Given the description of an element on the screen output the (x, y) to click on. 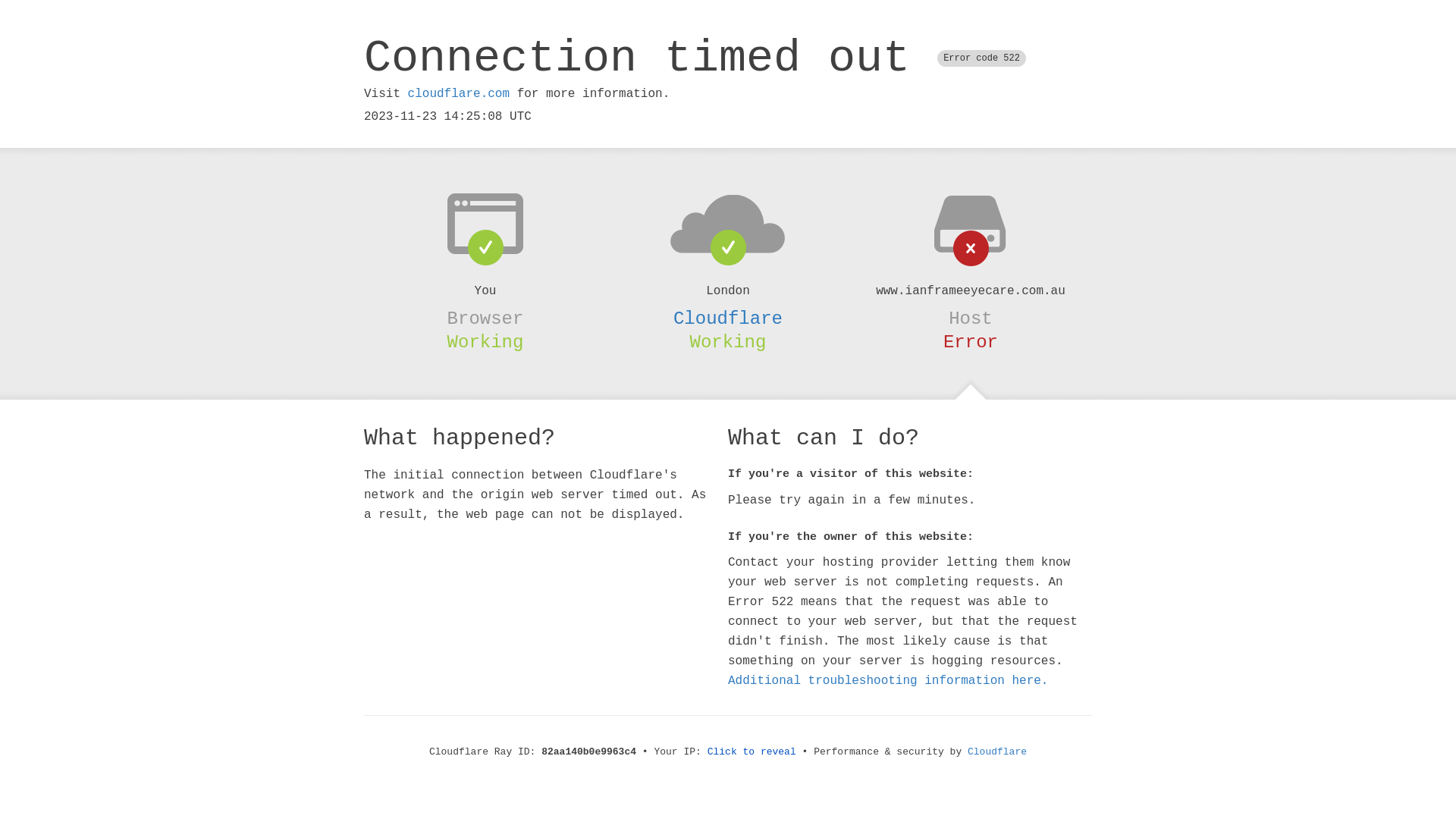
Click to reveal Element type: text (751, 751)
cloudflare.com Element type: text (458, 93)
Additional troubleshooting information here. Element type: text (888, 680)
Cloudflare Element type: text (996, 751)
Cloudflare Element type: text (727, 318)
